Given the description of an element on the screen output the (x, y) to click on. 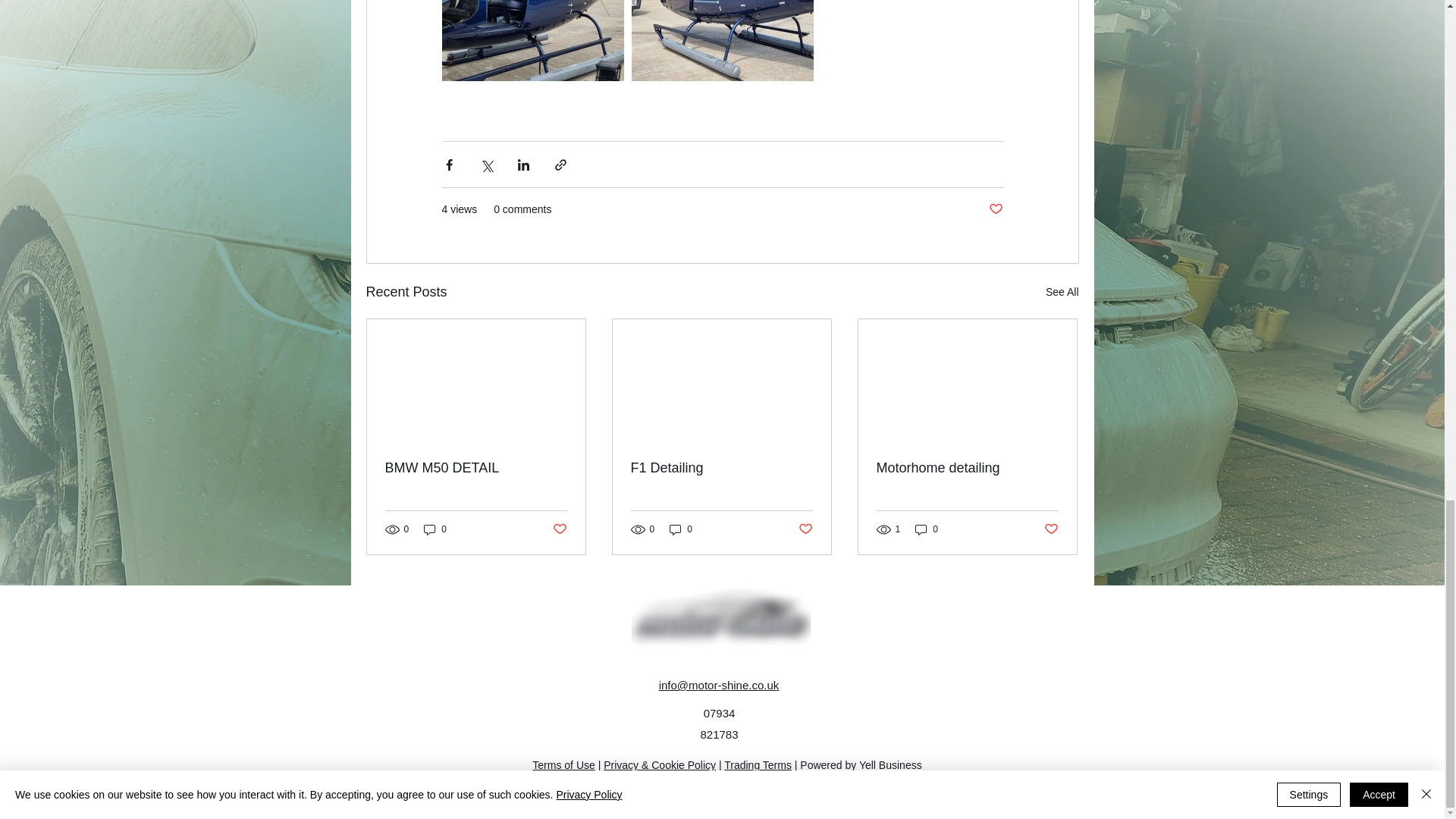
F1 Detailing (721, 467)
Post not marked as liked (804, 529)
Terms of Use (563, 765)
Post not marked as liked (995, 209)
Motorhome detailing (967, 467)
Post not marked as liked (1050, 529)
BMW M50 DETAIL (476, 467)
0 (681, 528)
0 (926, 528)
See All (1061, 292)
0 (435, 528)
Post not marked as liked (558, 529)
